Given the description of an element on the screen output the (x, y) to click on. 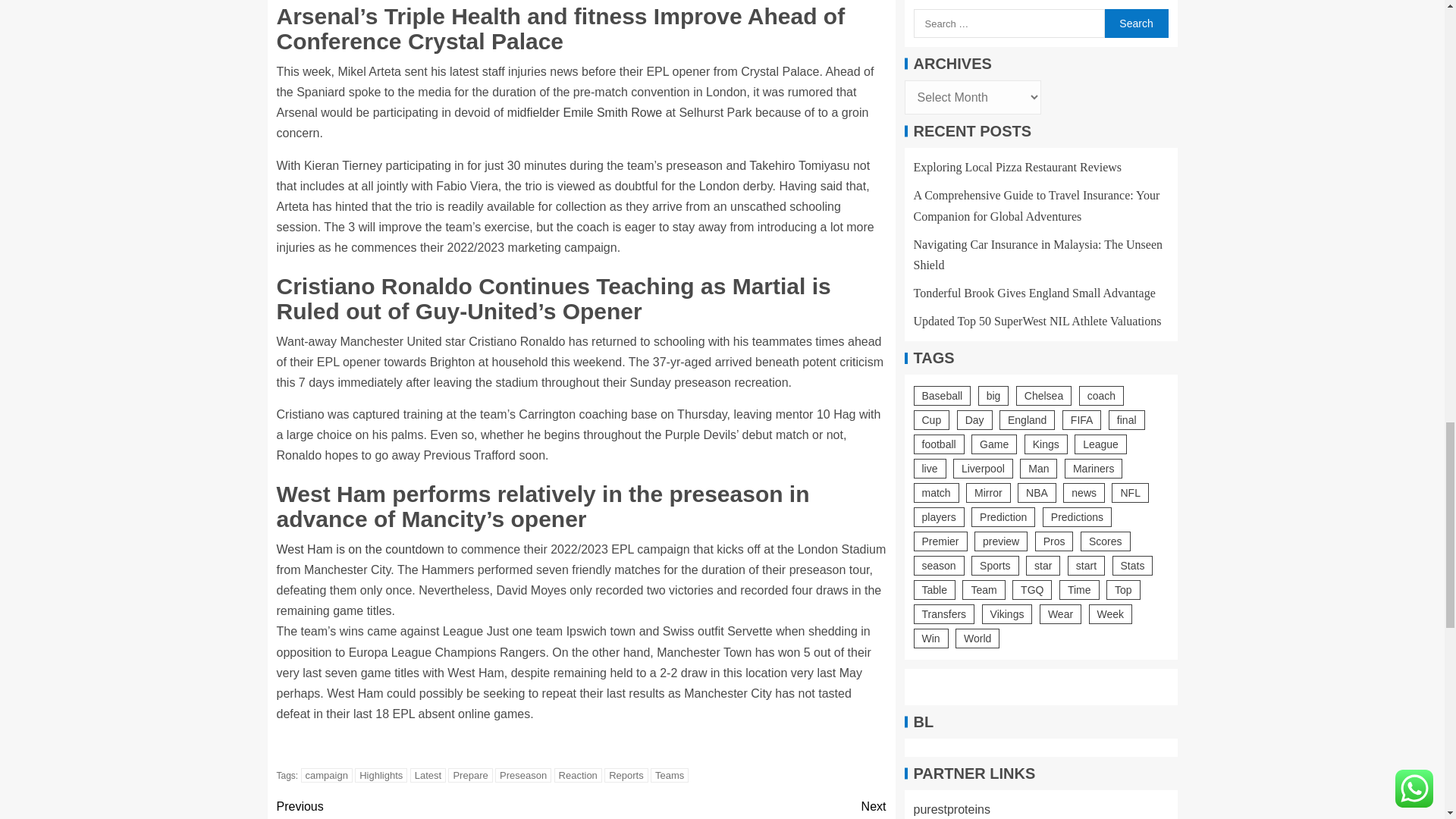
Reaction (578, 775)
campaign (326, 775)
Latest (427, 775)
West Ham is on the countdown (360, 549)
midfielder Emile Smith Rowe (584, 112)
Teams (669, 775)
Reports (625, 775)
Highlights (381, 775)
